Given the description of an element on the screen output the (x, y) to click on. 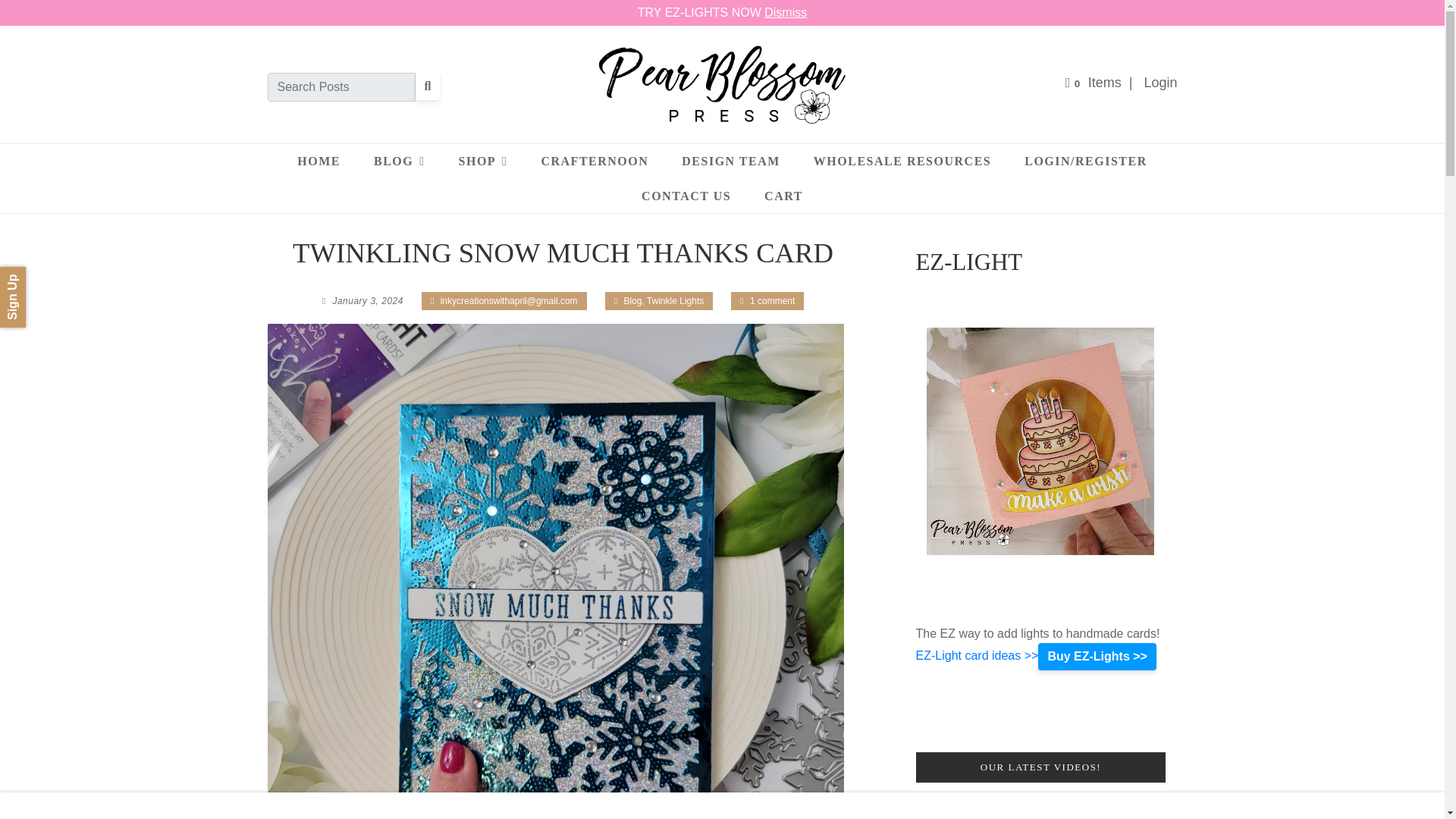
DESIGN TEAM (730, 161)
CONTACT US (686, 195)
CART (783, 195)
CRAFTERNOON (594, 161)
0 Items (1093, 82)
WHOLESALE RESOURCES (901, 161)
BLOG (399, 161)
Login (1159, 82)
Blog (632, 300)
Twinkle Lights (674, 300)
Pearblossom Press (721, 84)
1 comment (771, 300)
SHOP (483, 161)
HOME (318, 161)
